Given the description of an element on the screen output the (x, y) to click on. 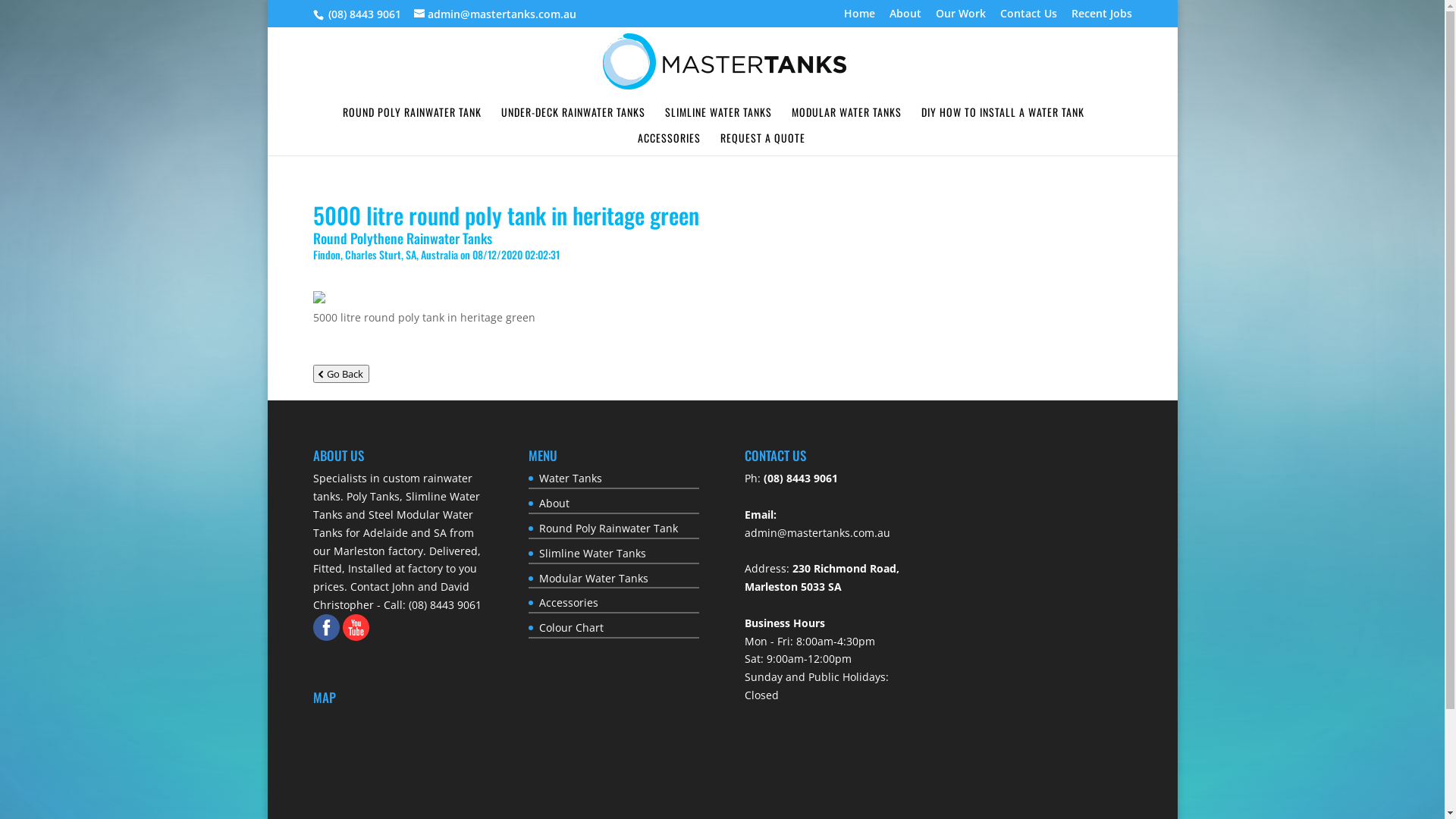
Water Tanks Element type: text (570, 477)
DIY HOW TO INSTALL A WATER TANK Element type: text (1001, 116)
Accessories Element type: text (568, 602)
Modular Water Tanks Element type: text (593, 578)
REQUEST A QUOTE Element type: text (762, 142)
Go Back Element type: text (340, 373)
(08) 8443 9061 Element type: text (800, 477)
admin@mastertanks.com.au Element type: text (817, 532)
YouTube Element type: hover (355, 627)
Recent Jobs Element type: text (1100, 16)
UNDER-DECK RAINWATER TANKS Element type: text (572, 116)
Round Poly Rainwater Tank Element type: text (608, 527)
SLIMLINE WATER TANKS Element type: text (717, 116)
admin@mastertanks.com.au Element type: text (495, 13)
About Element type: text (554, 502)
Call: (08) 8443 9061 Element type: text (432, 604)
ACCESSORIES Element type: text (668, 142)
ROUND POLY RAINWATER TANK Element type: text (411, 116)
Home Element type: text (858, 16)
About Element type: text (904, 16)
Facebook Element type: hover (325, 627)
MODULAR WATER TANKS Element type: text (846, 116)
Colour Chart Element type: text (571, 627)
Contact Us Element type: text (1027, 16)
Slimline Water Tanks Element type: text (592, 553)
Our Work Element type: text (960, 16)
